Given the description of an element on the screen output the (x, y) to click on. 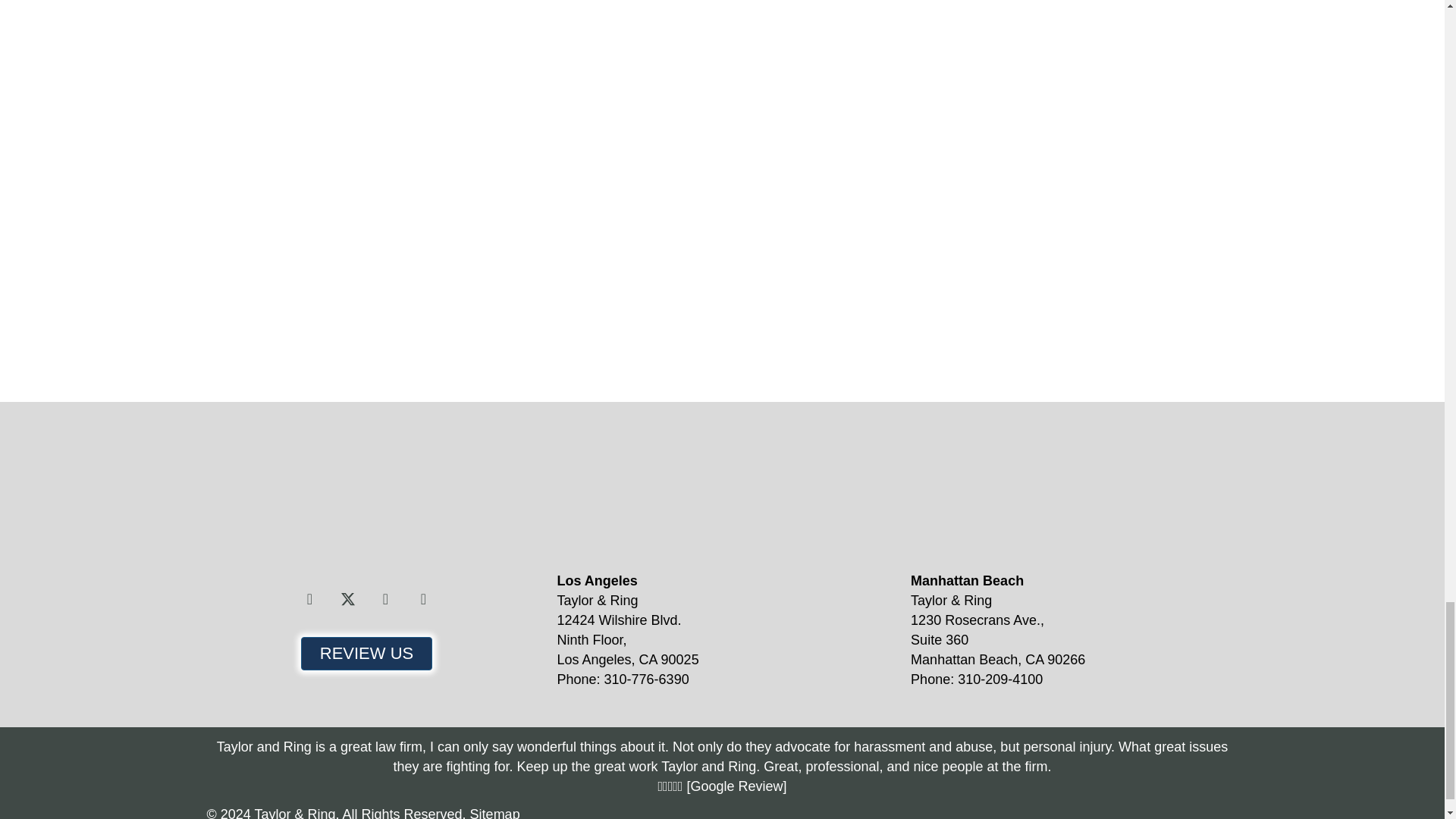
Instagram (384, 598)
Manhattan Beach (1042, 494)
Facebook (309, 598)
PoweredByDLM (1156, 811)
Los Angeles (687, 494)
LinkedIn (422, 598)
